Given the description of an element on the screen output the (x, y) to click on. 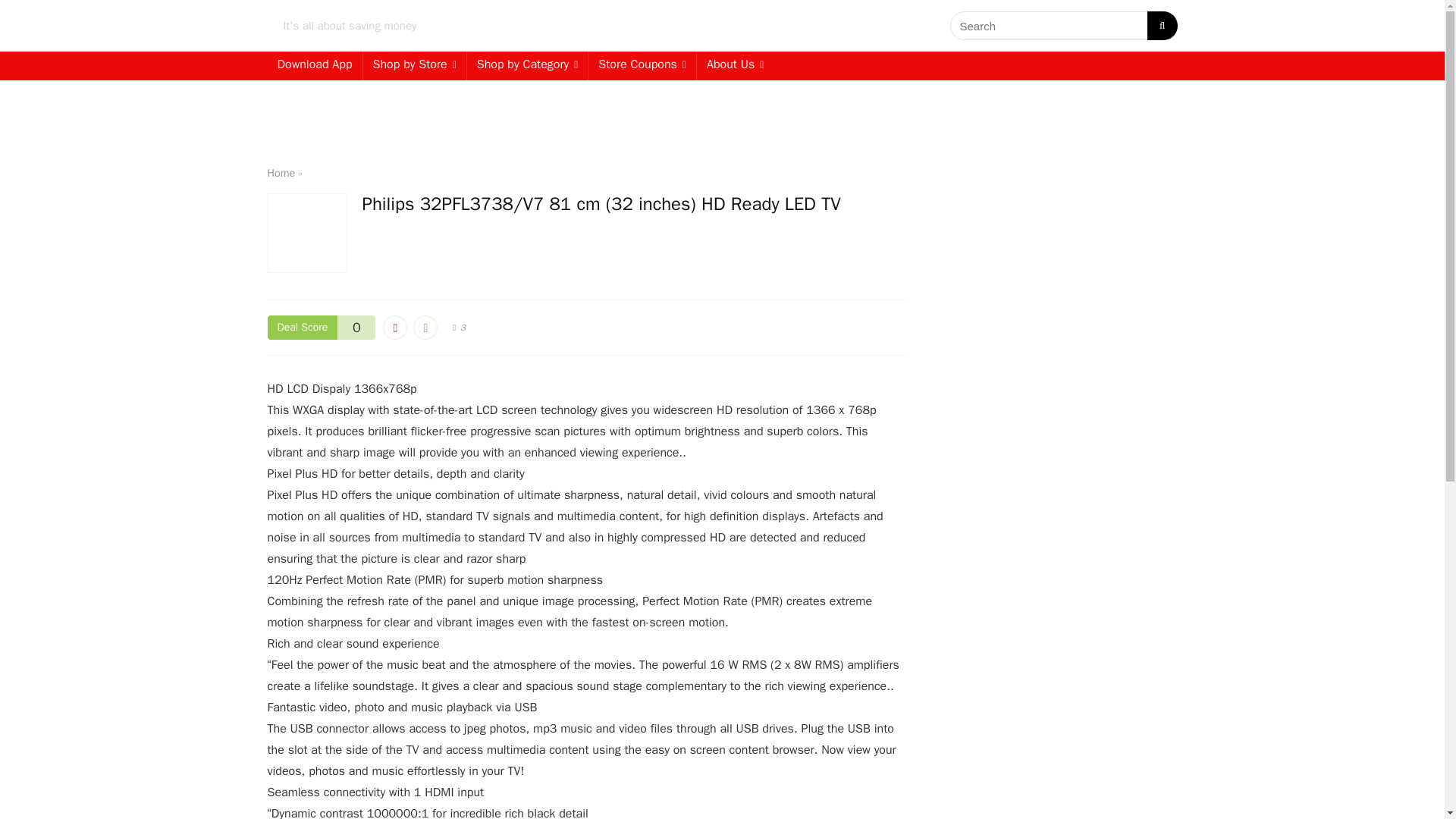
Vote down (394, 327)
About Us (735, 65)
Store Coupons (641, 65)
Download App (313, 65)
Vote up (425, 327)
Shop by Store (413, 65)
Shop by Category (527, 65)
